Given the description of an element on the screen output the (x, y) to click on. 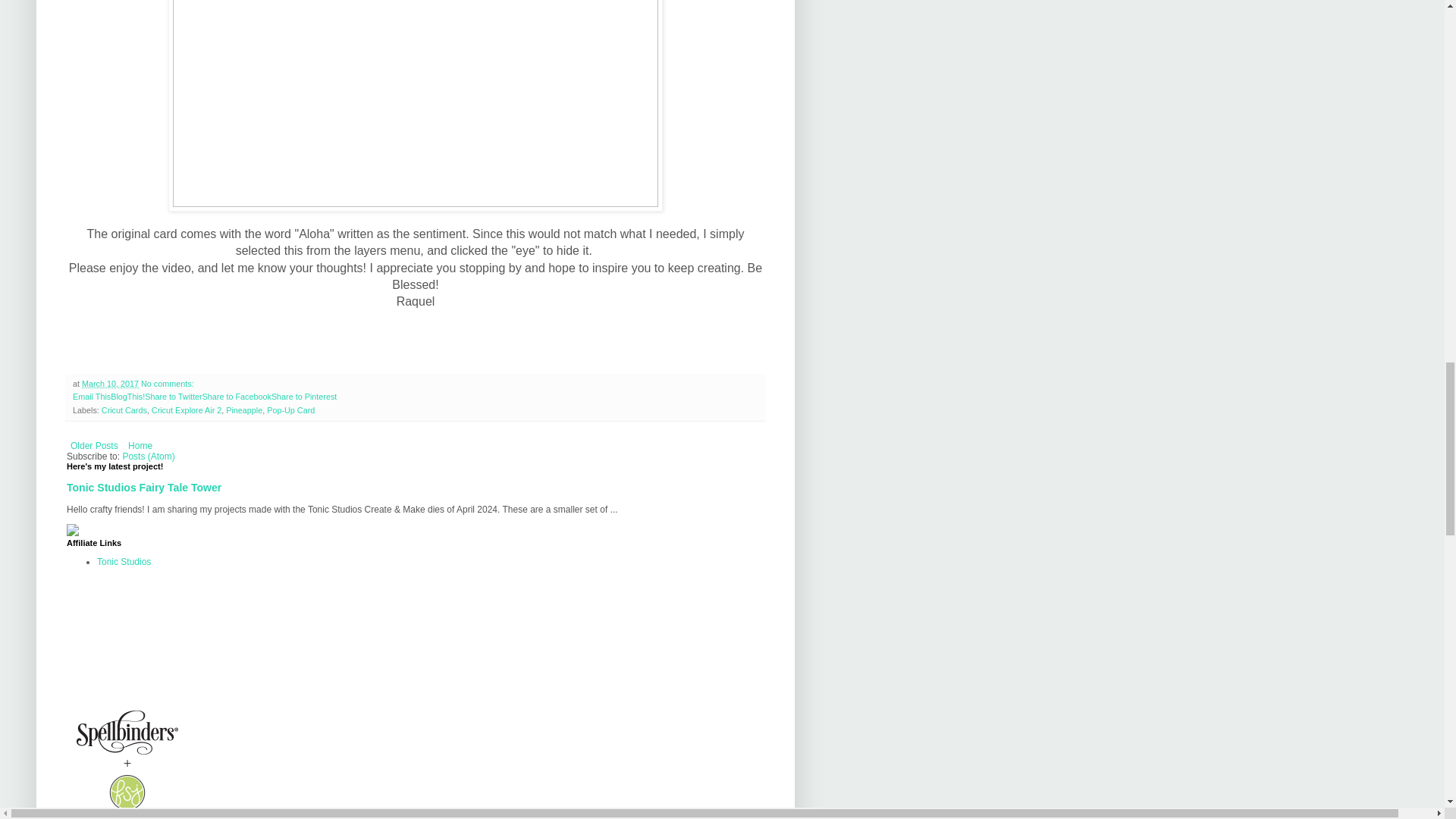
Share to Pinterest (303, 396)
Email This (91, 396)
Home (139, 445)
Share to Twitter (173, 396)
Pineapple (243, 409)
Cricut Explore Air 2 (186, 409)
Older Posts (94, 445)
Pop-Up Card (290, 409)
Tonic Studios (124, 561)
Share to Pinterest (303, 396)
Share to Facebook (236, 396)
Share to Facebook (236, 396)
Cricut Cards (124, 409)
BlogThis! (127, 396)
No comments: (167, 383)
